Given the description of an element on the screen output the (x, y) to click on. 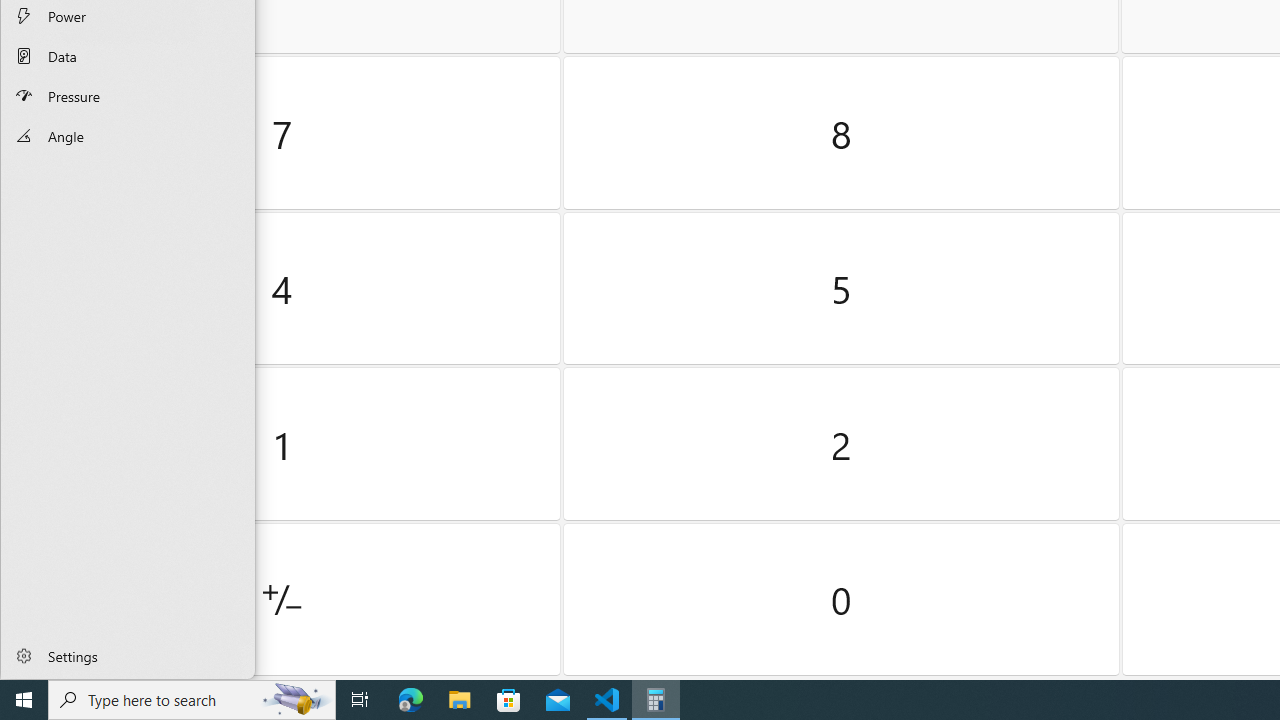
Pressure Converter (127, 95)
Positive negative (281, 599)
